Given the description of an element on the screen output the (x, y) to click on. 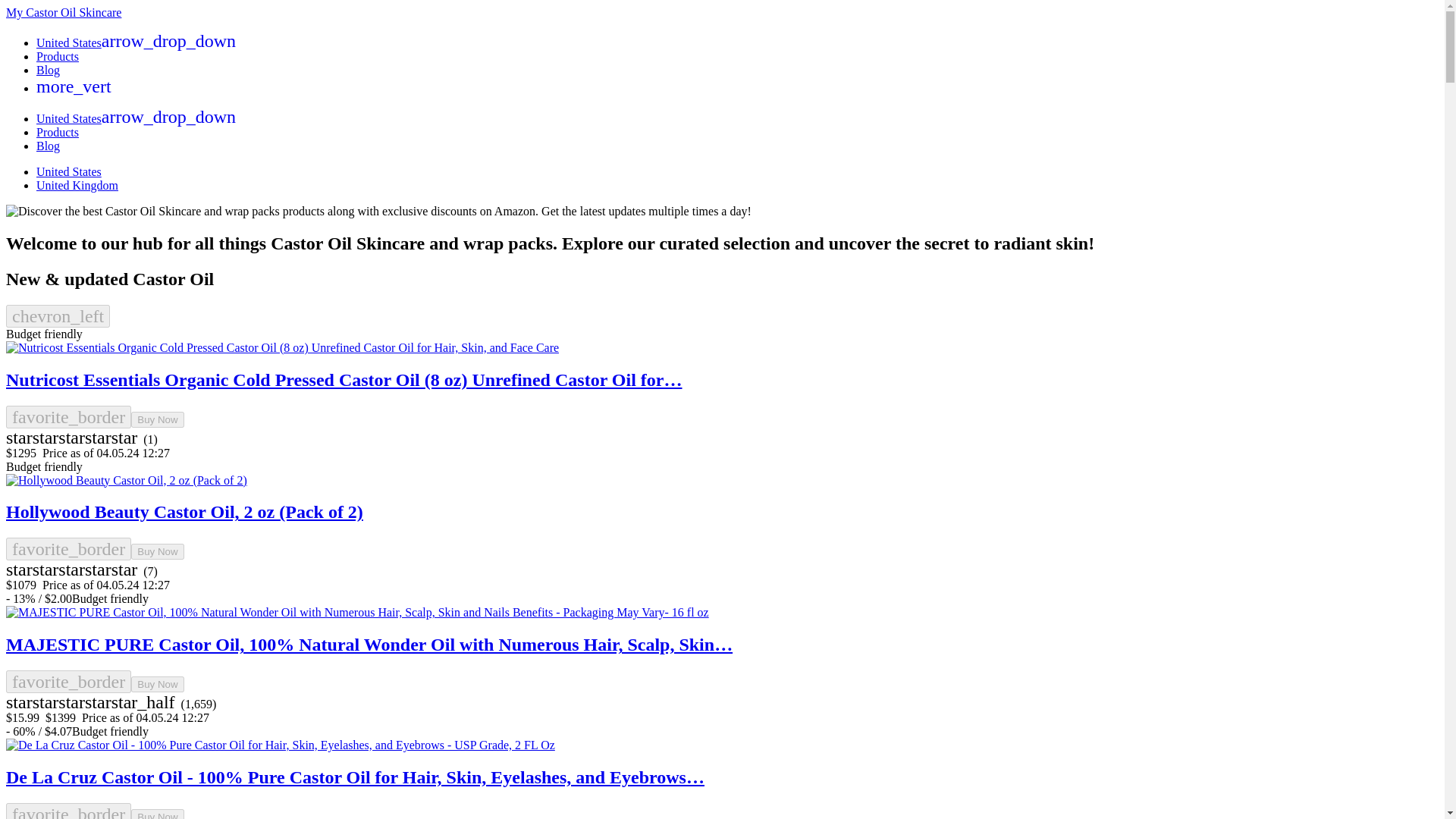
United Kingdom - Amazon.co.uk (76, 185)
Blog (47, 145)
My Castor Oil Skincare (62, 11)
United States - Amazon.com (135, 42)
United Kingdom (76, 185)
United States - Amazon.com (68, 171)
United States (68, 171)
These are not the droids you are looking for... (62, 11)
Products (57, 56)
Buy Now (157, 814)
Buy Now (157, 684)
Add to Favorites (68, 416)
Products (57, 132)
Blog (47, 69)
United States - Amazon.com (135, 118)
